Given the description of an element on the screen output the (x, y) to click on. 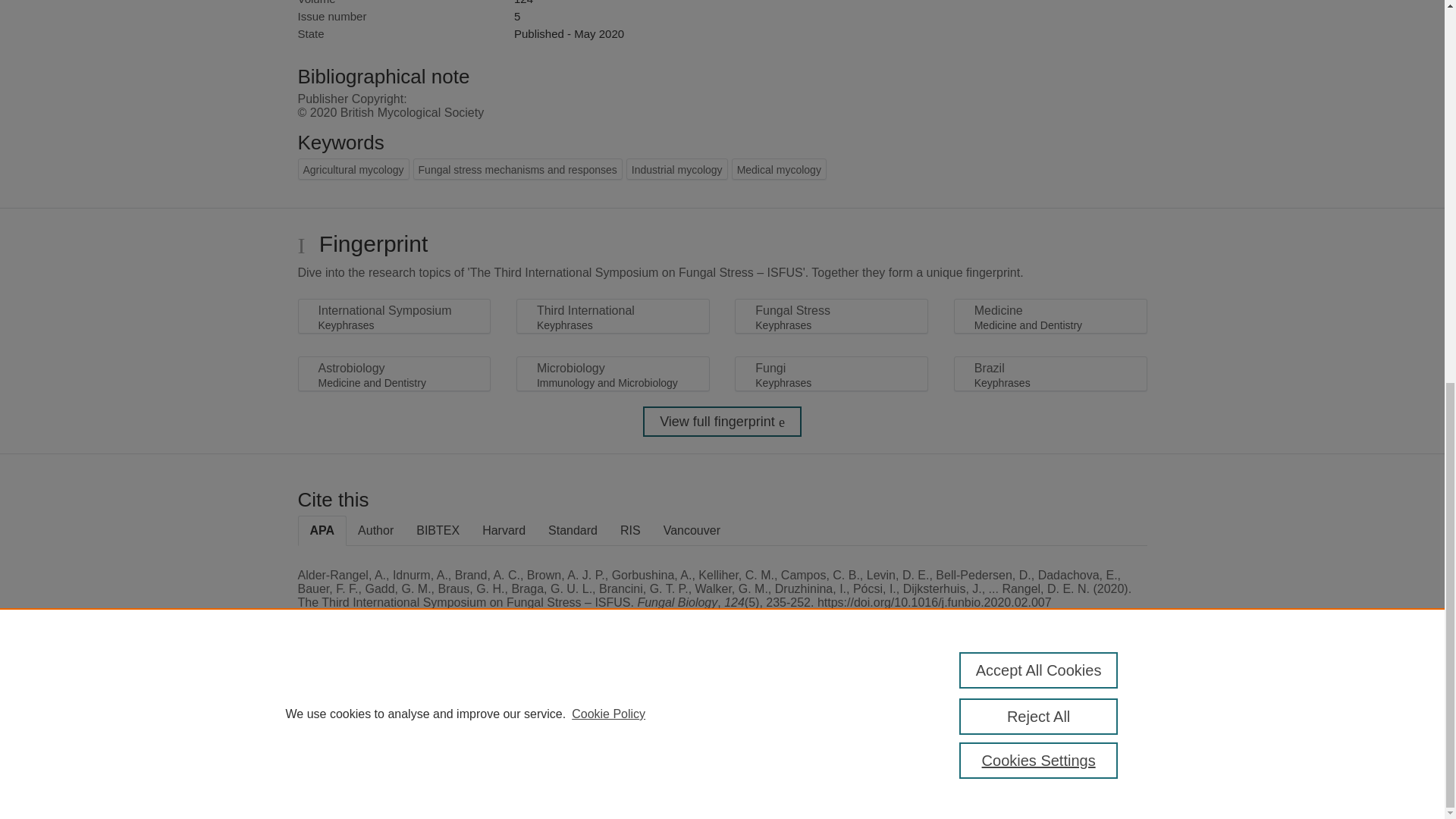
Report vulnerability (1088, 745)
use of cookies (796, 760)
Cookie Policy (608, 2)
Elsevier B.V. (506, 728)
About web accessibility (1088, 713)
Scopus (394, 708)
View full fingerprint (722, 421)
Cookies Settings (334, 781)
Pure (362, 708)
